Given the description of an element on the screen output the (x, y) to click on. 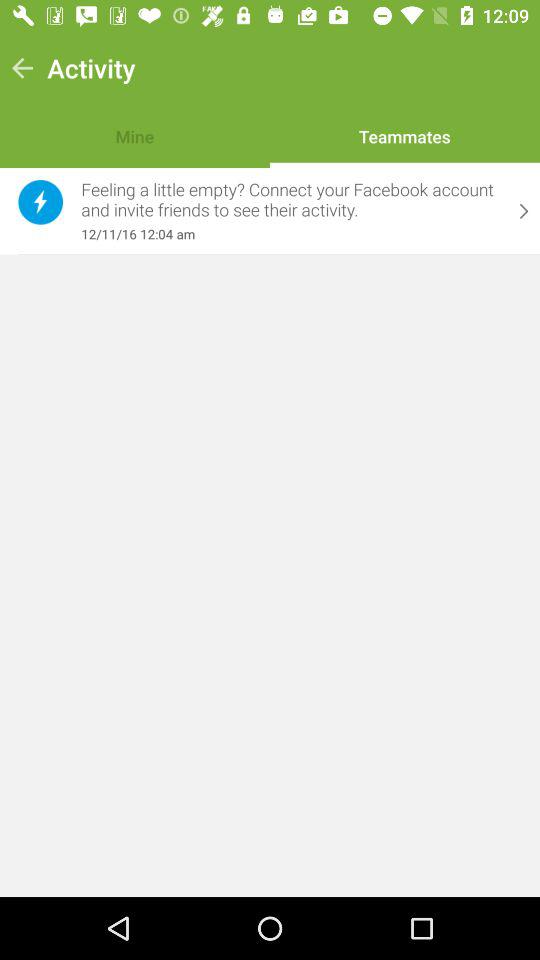
select the item next to feeling a little (524, 211)
